Given the description of an element on the screen output the (x, y) to click on. 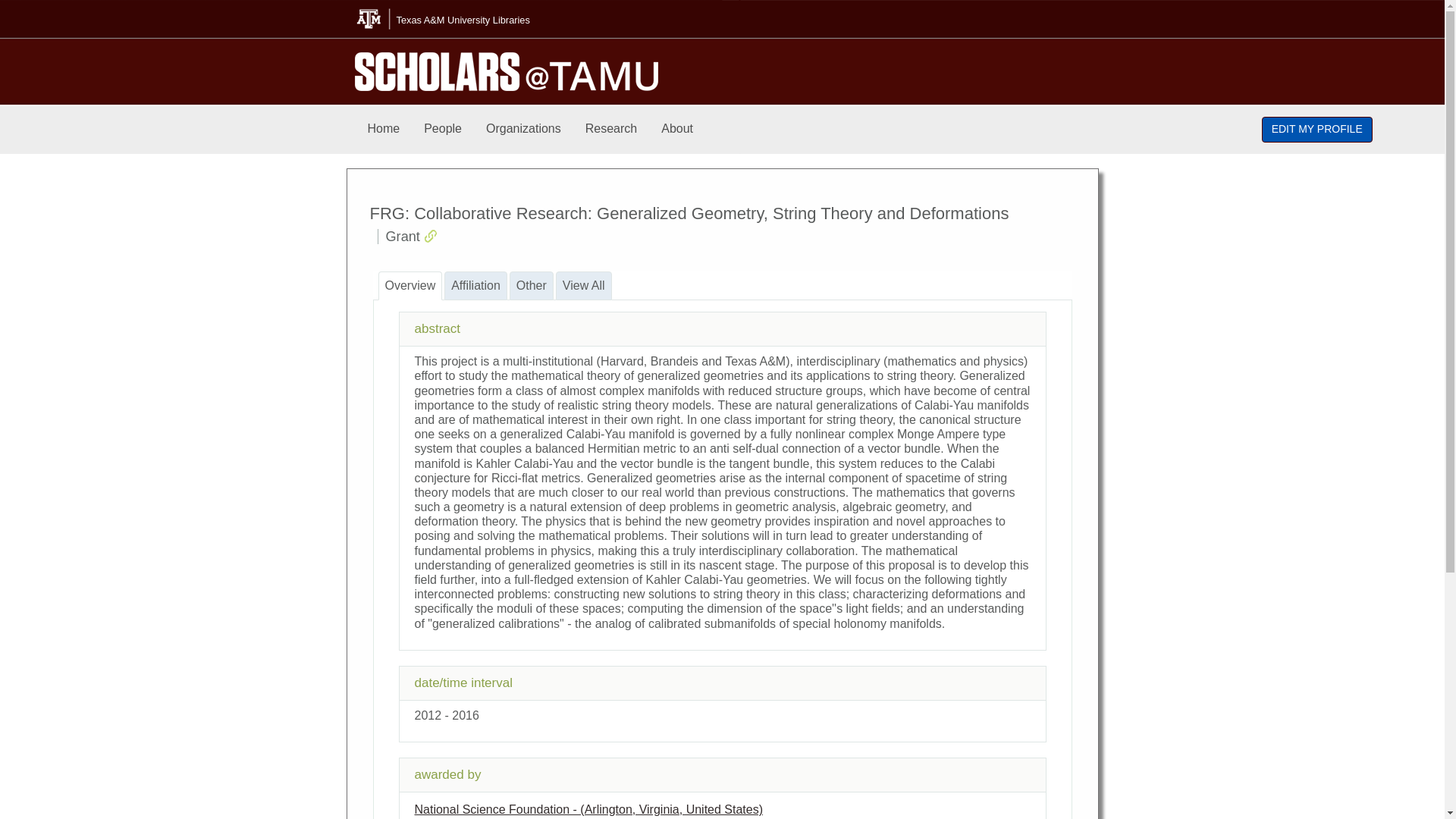
People (443, 128)
Home (383, 128)
Research (611, 128)
People menu item (443, 128)
Home menu item (383, 128)
name (587, 809)
Organizations menu item (523, 128)
About (676, 128)
EDIT MY PROFILE (1317, 129)
Research menu item (611, 128)
